Given the description of an element on the screen output the (x, y) to click on. 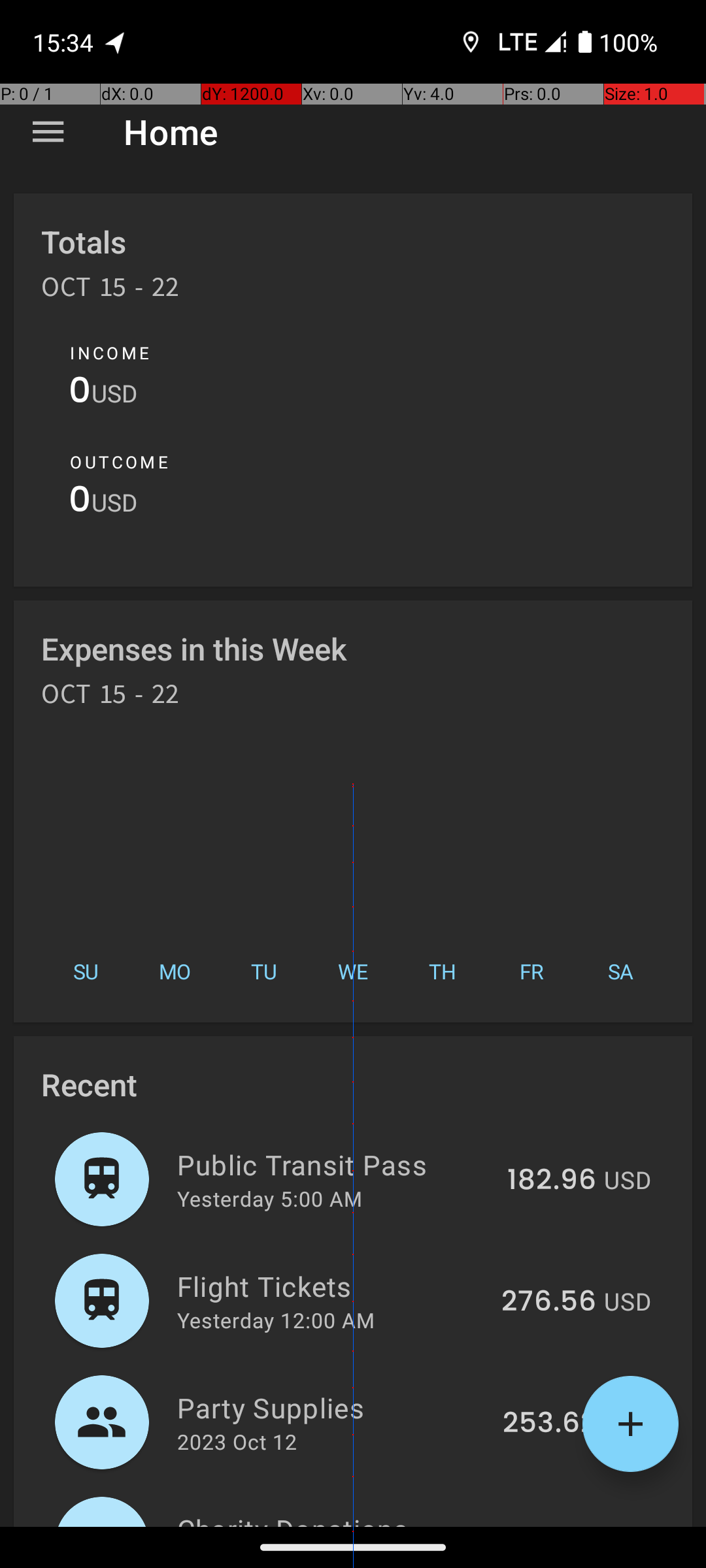
Public Transit Pass Element type: android.widget.TextView (334, 1164)
Yesterday 5:00 AM Element type: android.widget.TextView (269, 1198)
182.96 Element type: android.widget.TextView (551, 1180)
Flight Tickets Element type: android.widget.TextView (331, 1285)
Yesterday 12:00 AM Element type: android.widget.TextView (275, 1320)
276.56 Element type: android.widget.TextView (548, 1301)
Party Supplies Element type: android.widget.TextView (332, 1407)
253.62 Element type: android.widget.TextView (549, 1423)
Charity Donations Element type: android.widget.TextView (333, 1518)
480.16 Element type: android.widget.TextView (550, 1524)
